Given the description of an element on the screen output the (x, y) to click on. 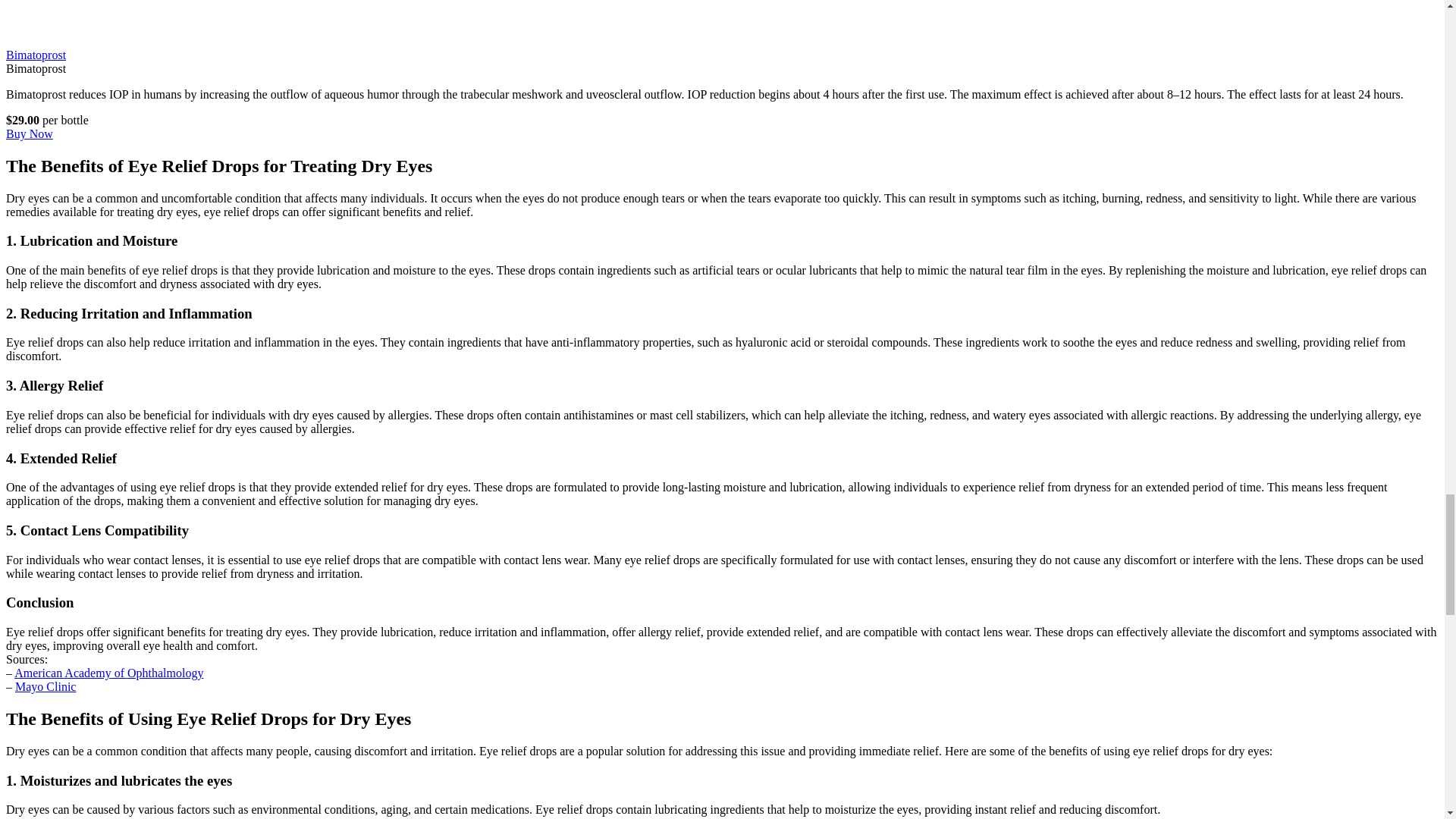
American Academy of Ophthalmology (108, 672)
Mayo Clinic (44, 686)
Buy Now (28, 133)
Bimatoprost (35, 54)
